Given the description of an element on the screen output the (x, y) to click on. 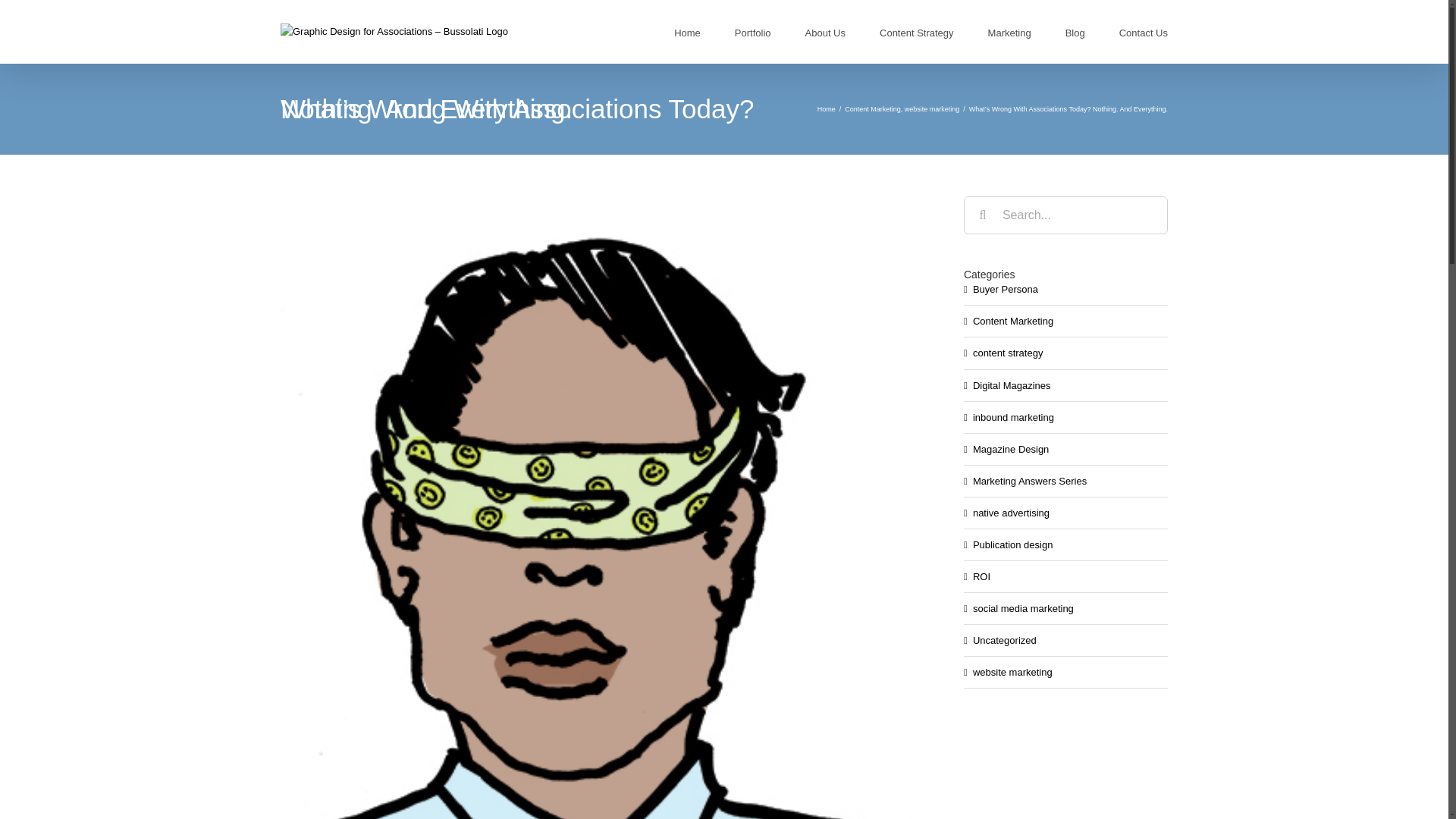
Home (825, 109)
Content Marketing (872, 109)
Content Strategy (916, 31)
website marketing (931, 109)
